Given the description of an element on the screen output the (x, y) to click on. 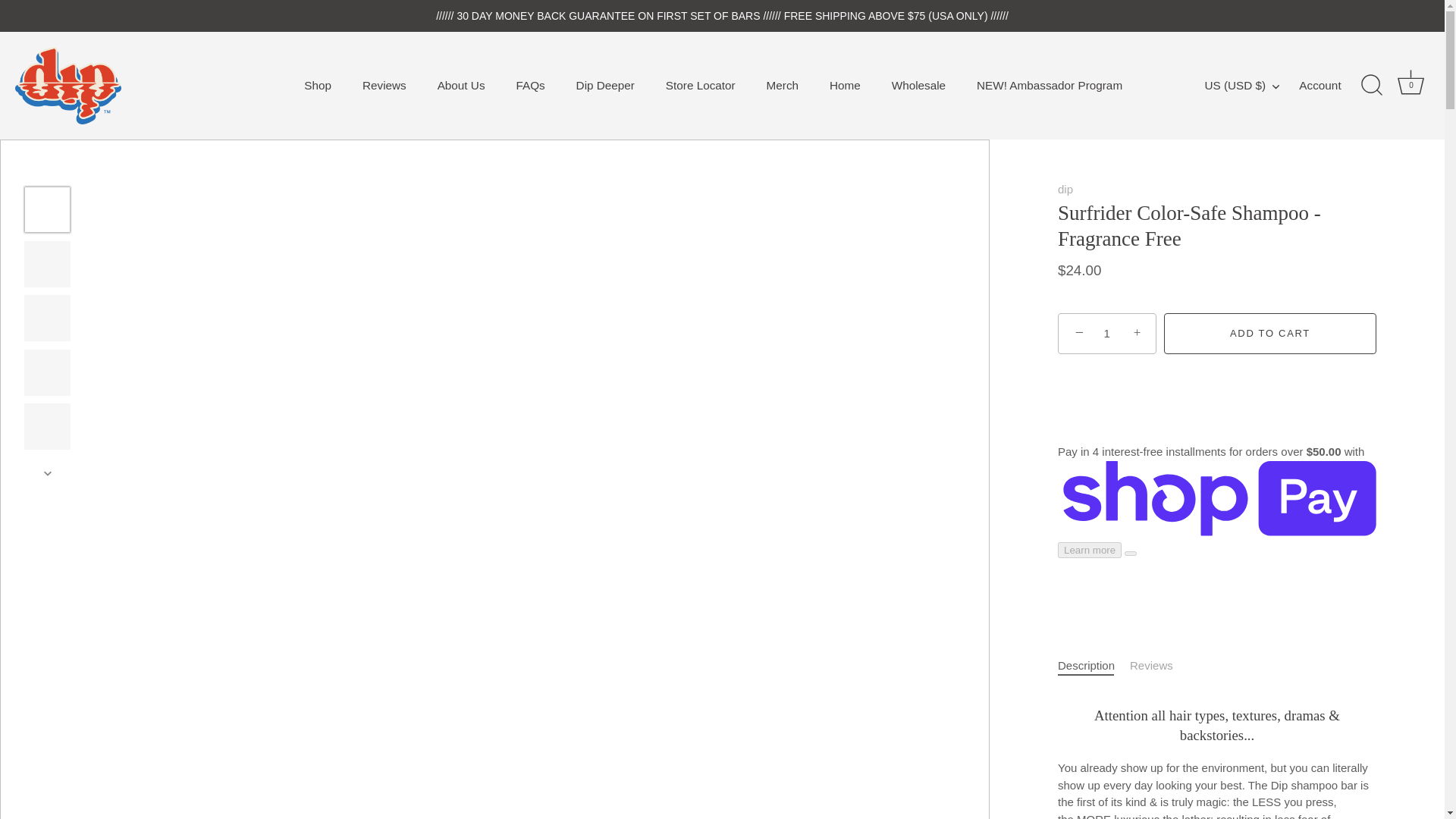
About Us (461, 85)
Shop (317, 85)
FAQs (530, 85)
Cart (1410, 81)
Reviews (384, 85)
